Given the description of an element on the screen output the (x, y) to click on. 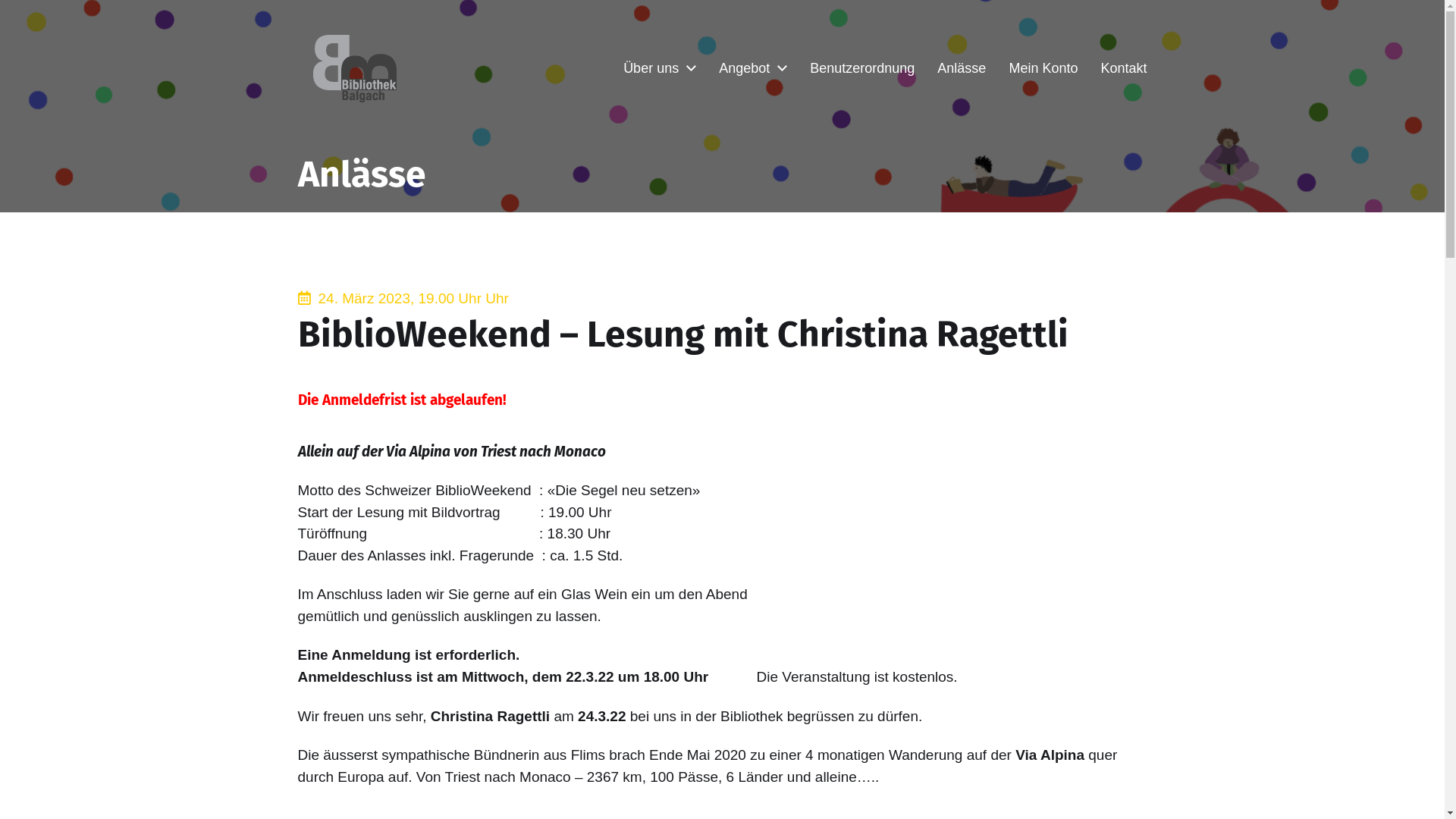
Mein Konto Element type: text (1042, 68)
Benutzerordnung Element type: text (861, 68)
Angebot Element type: text (743, 68)
Kontakt Element type: text (1123, 68)
